Given the description of an element on the screen output the (x, y) to click on. 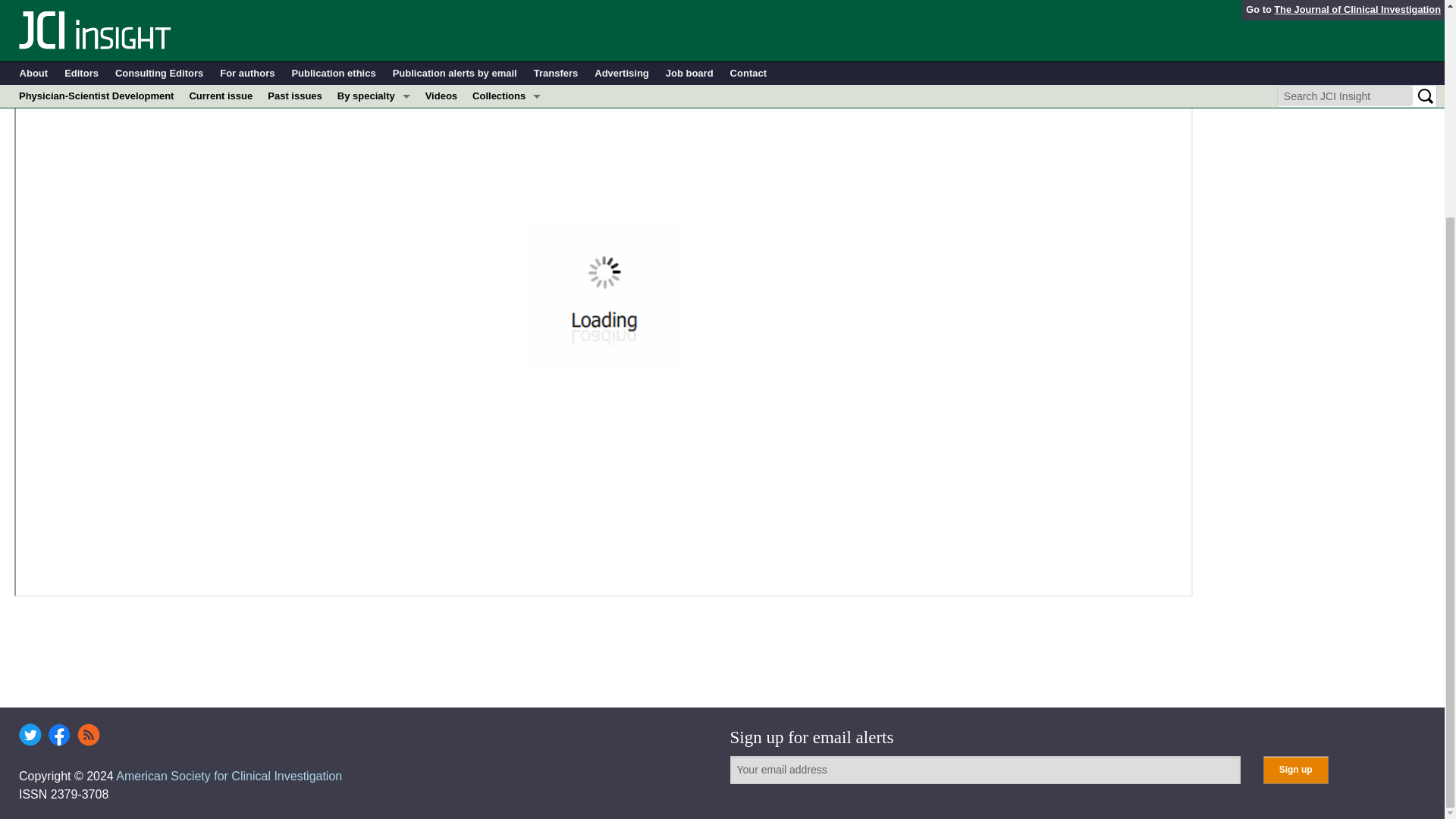
Top read articles (506, 2)
Twitter (30, 734)
RSS (88, 734)
Sign up (1295, 769)
All ... (373, 2)
Facebook (58, 734)
